Given the description of an element on the screen output the (x, y) to click on. 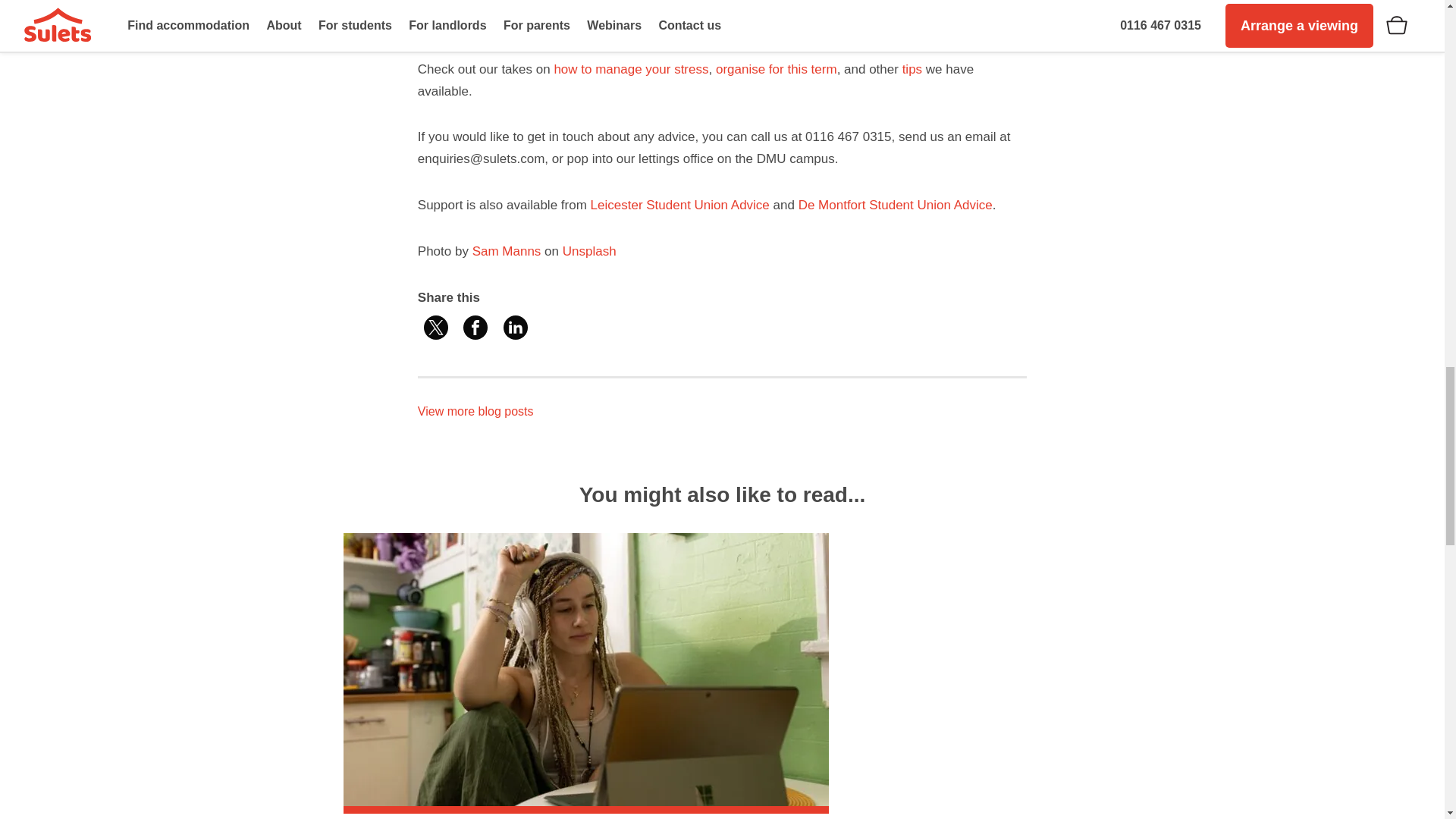
LinkedIn (515, 327)
Twitter (435, 327)
Facebook (475, 327)
